Given the description of an element on the screen output the (x, y) to click on. 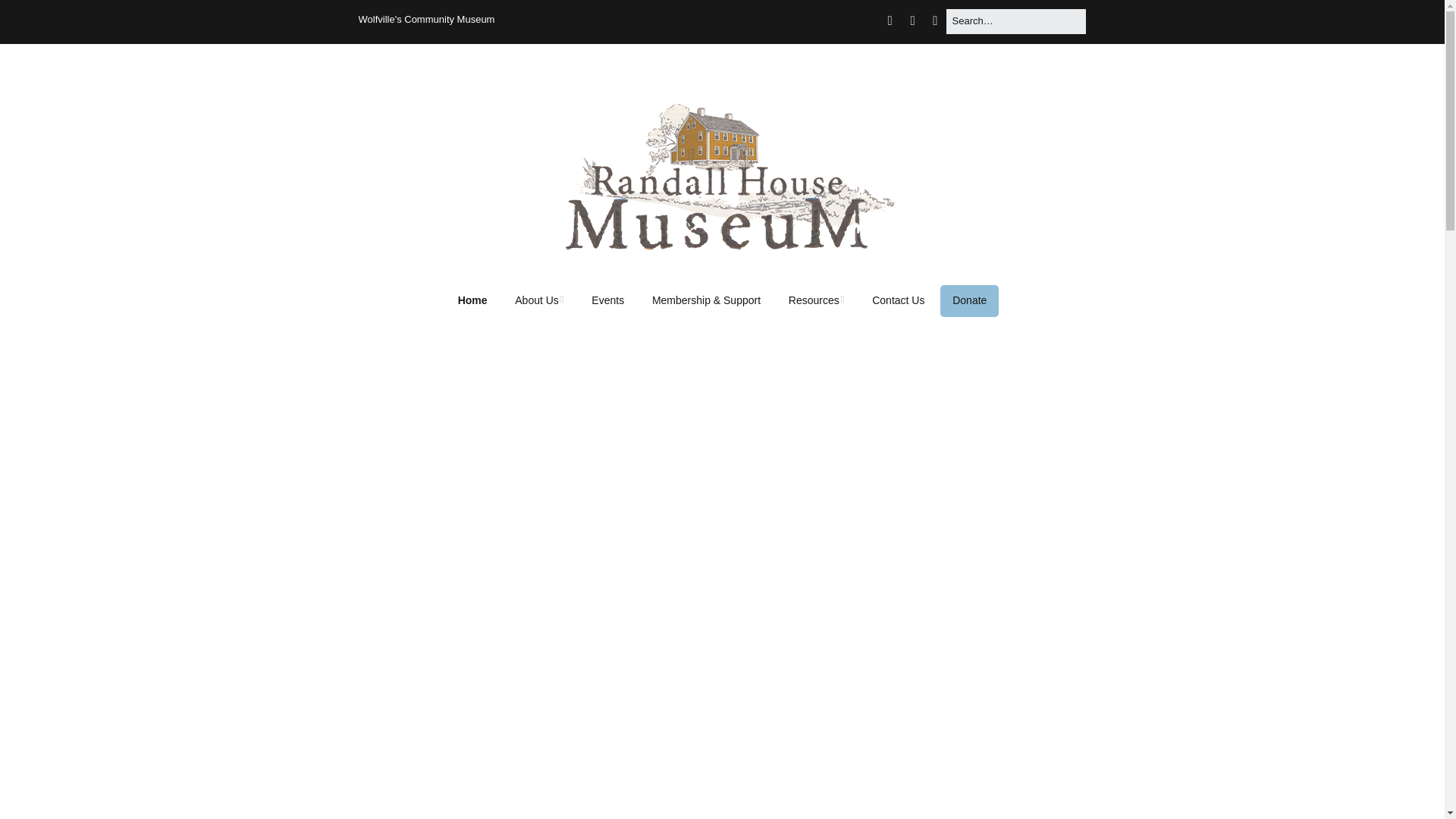
Donate (969, 300)
Search (29, 16)
About Us (538, 300)
Home (472, 300)
Events (607, 300)
Press Enter to submit your search (1015, 21)
Contact Us (898, 300)
Resources (816, 300)
